Given the description of an element on the screen output the (x, y) to click on. 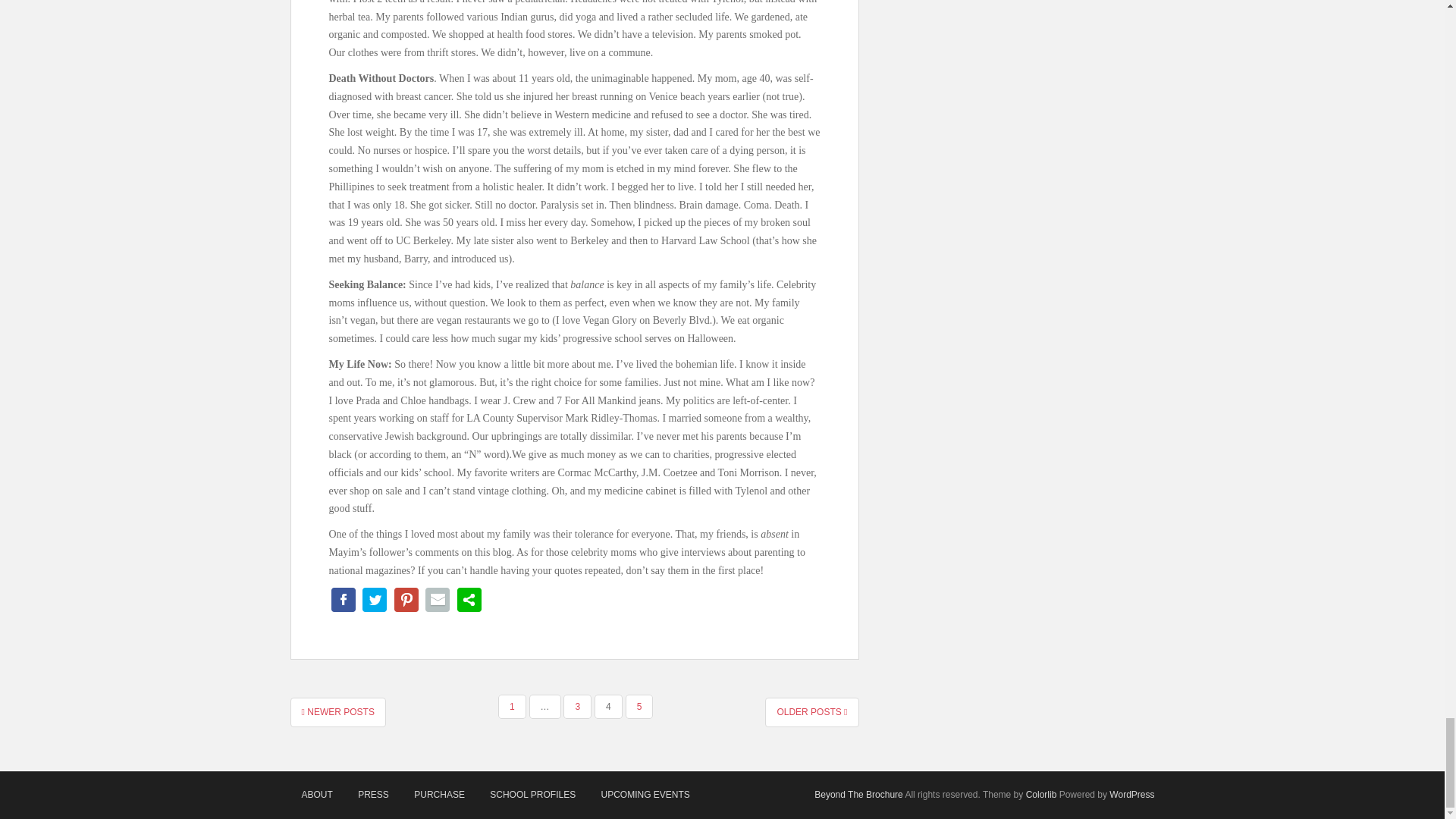
Beyond The Brochure (857, 794)
